Given the description of an element on the screen output the (x, y) to click on. 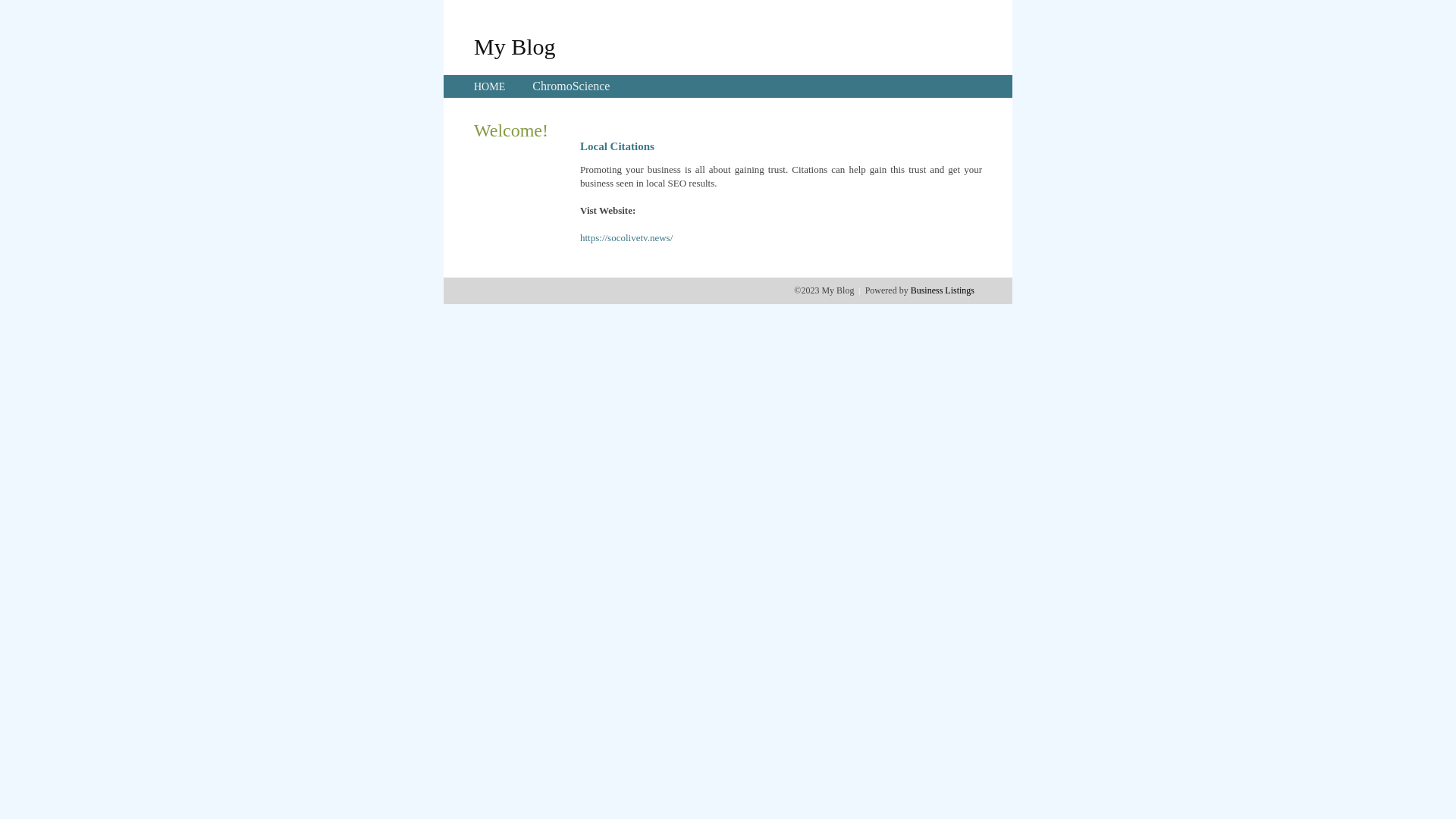
https://socolivetv.news/ Element type: text (626, 237)
HOME Element type: text (489, 86)
My Blog Element type: text (514, 46)
Business Listings Element type: text (942, 290)
ChromoScience Element type: text (570, 85)
